Given the description of an element on the screen output the (x, y) to click on. 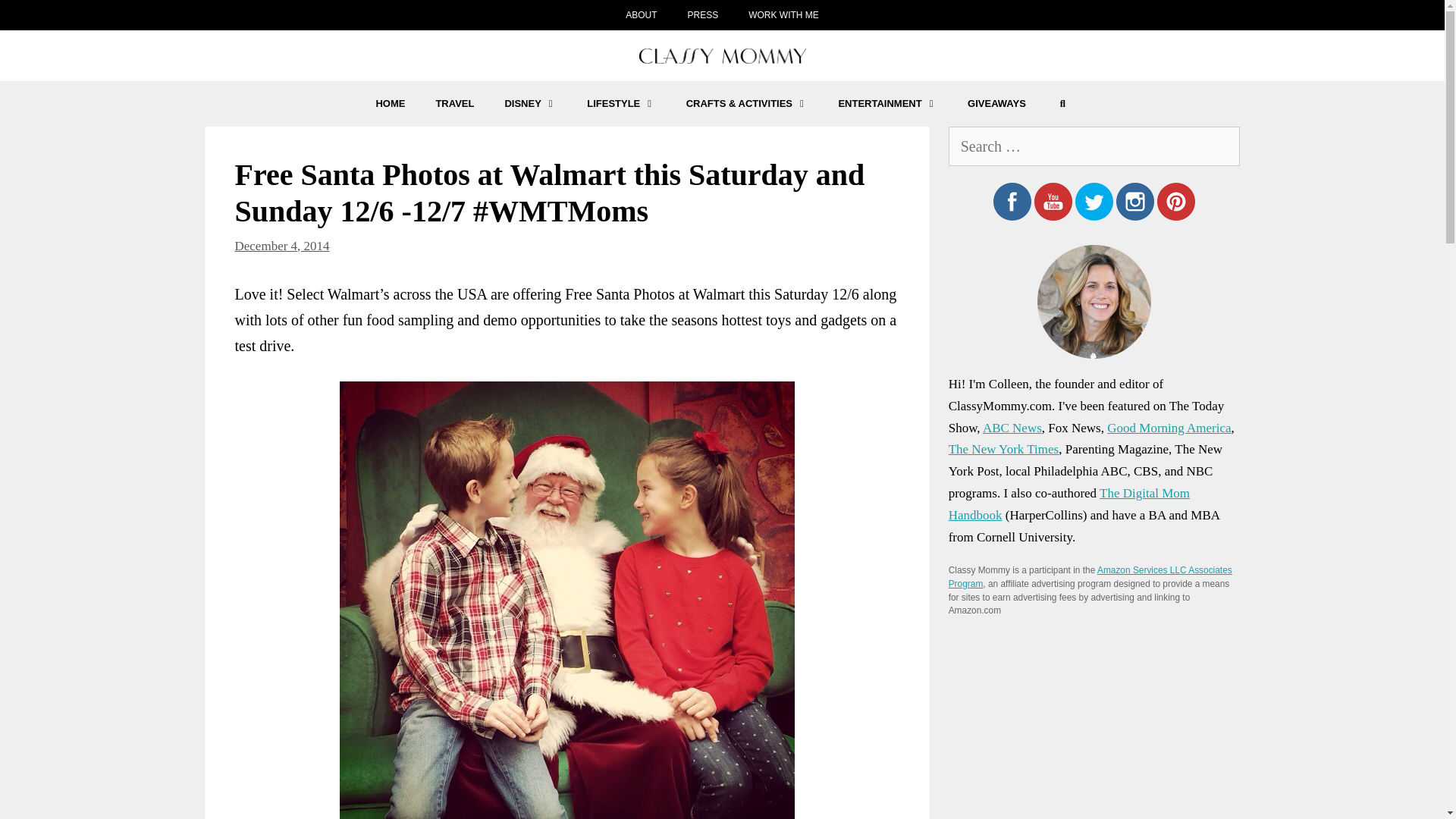
SEARCH (1062, 103)
HOME (389, 103)
WORK WITH ME (783, 15)
LIFESTYLE (620, 103)
ABOUT (640, 15)
PRESS (702, 15)
Search (36, 19)
ABC News (1012, 427)
Classy Mommy (722, 54)
Classy Mommy (722, 55)
December 4, 2014 (282, 245)
6:28 am (282, 245)
Search for: (1094, 146)
ENTERTAINMENT (887, 103)
